Given the description of an element on the screen output the (x, y) to click on. 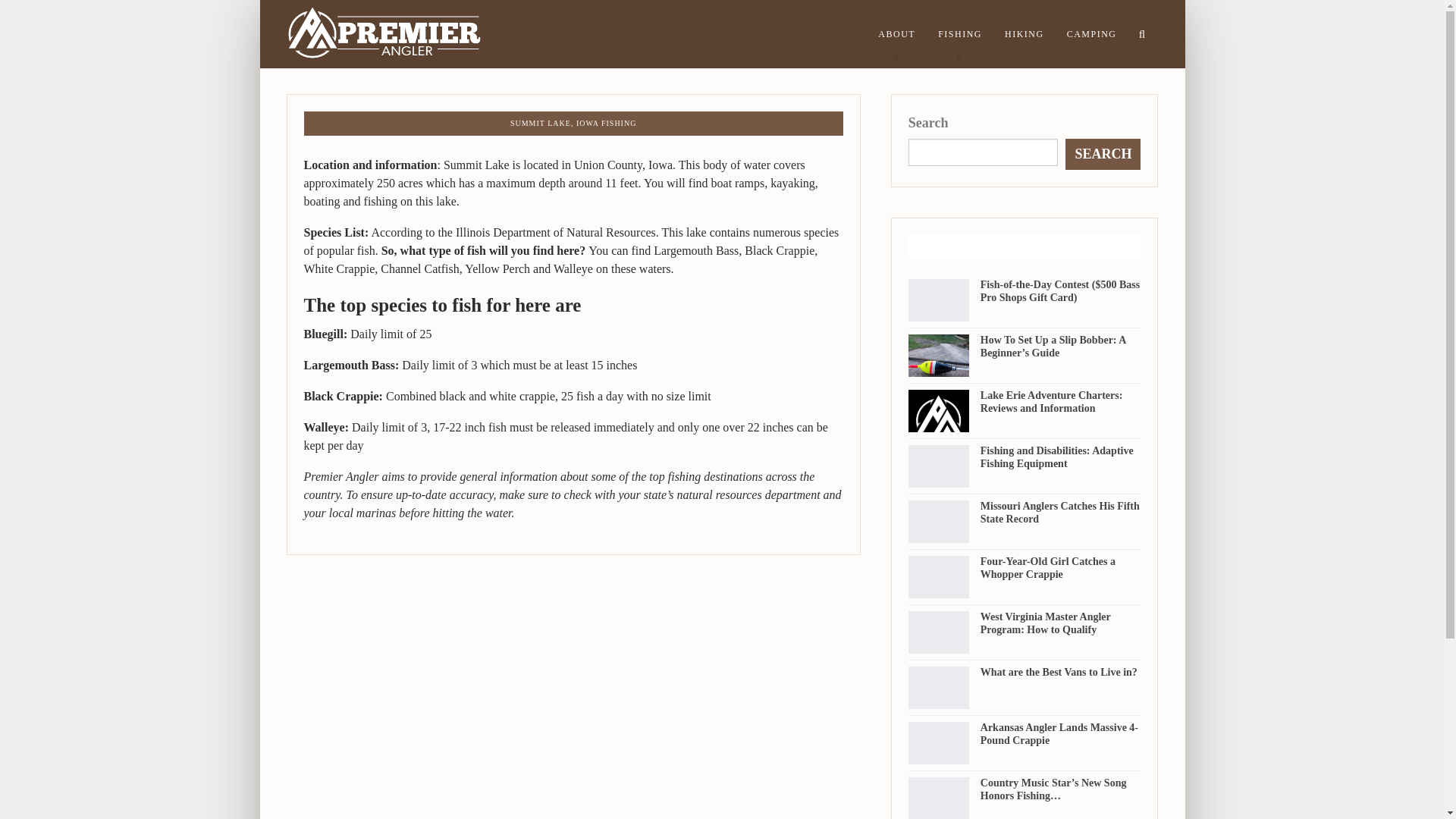
FISHING (959, 33)
Arkansas Angler Lands Massive 4-Pound Crappie (1058, 733)
Four-Year-Old Girl Catches a Whopper Crappie (938, 577)
What are the Best Vans to Live in? (1058, 672)
West Virginia Master Angler Program: How to Qualify (938, 631)
CAMPING (1091, 33)
What are the Best Vans to Live in? (938, 687)
Missouri Anglers Catches His Fifth State Record (1059, 512)
Fishing and Disabilities: Adaptive Fishing Equipment (1056, 457)
Arkansas Angler Lands Massive 4-Pound Crappie (938, 742)
